Given the description of an element on the screen output the (x, y) to click on. 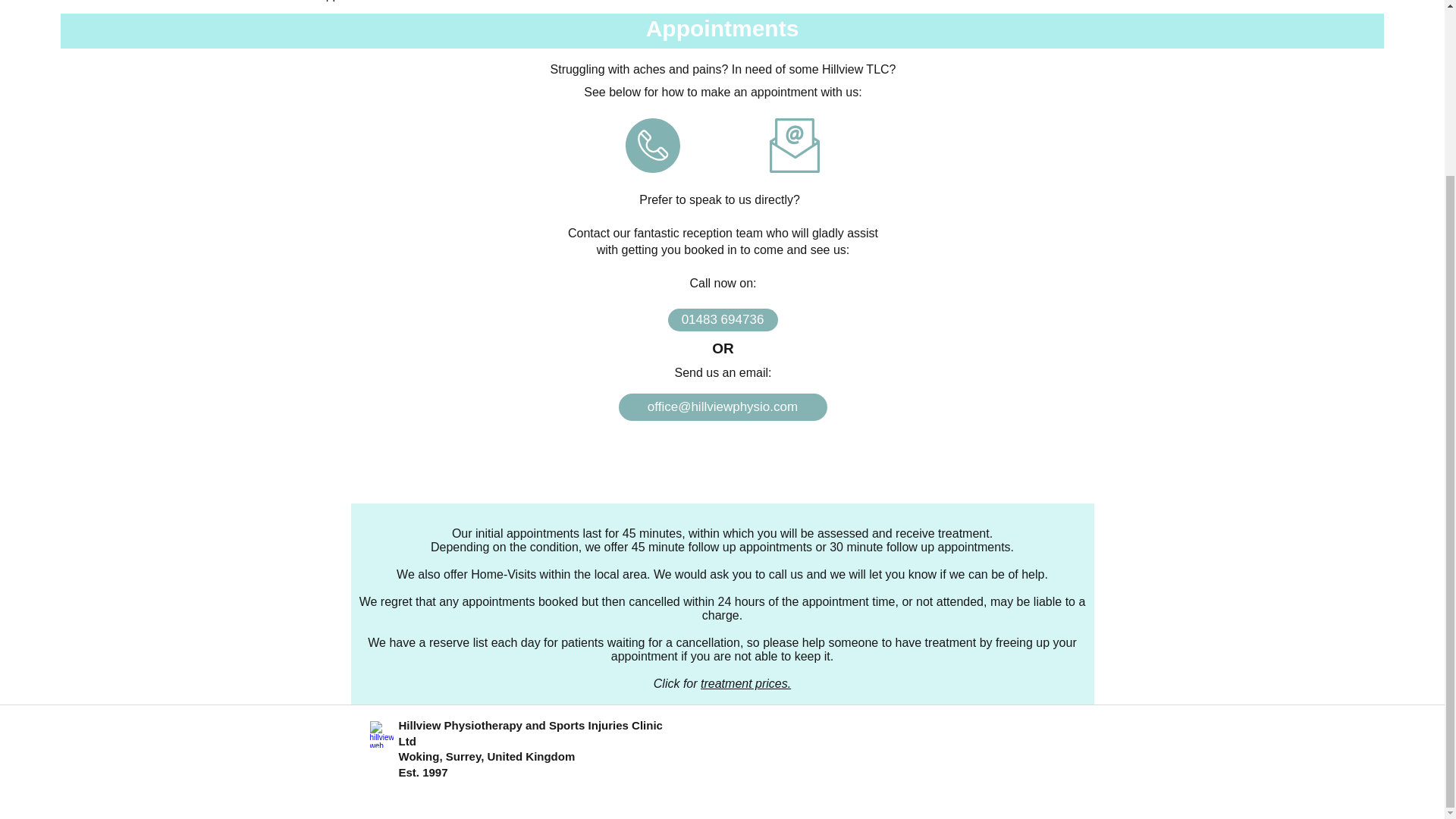
01483 694736 (721, 319)
Appointments (354, 3)
Insurances (436, 3)
Contact (502, 3)
Home (127, 3)
Services (181, 3)
treatment prices. (745, 683)
Meet The Team (261, 3)
